Given the description of an element on the screen output the (x, y) to click on. 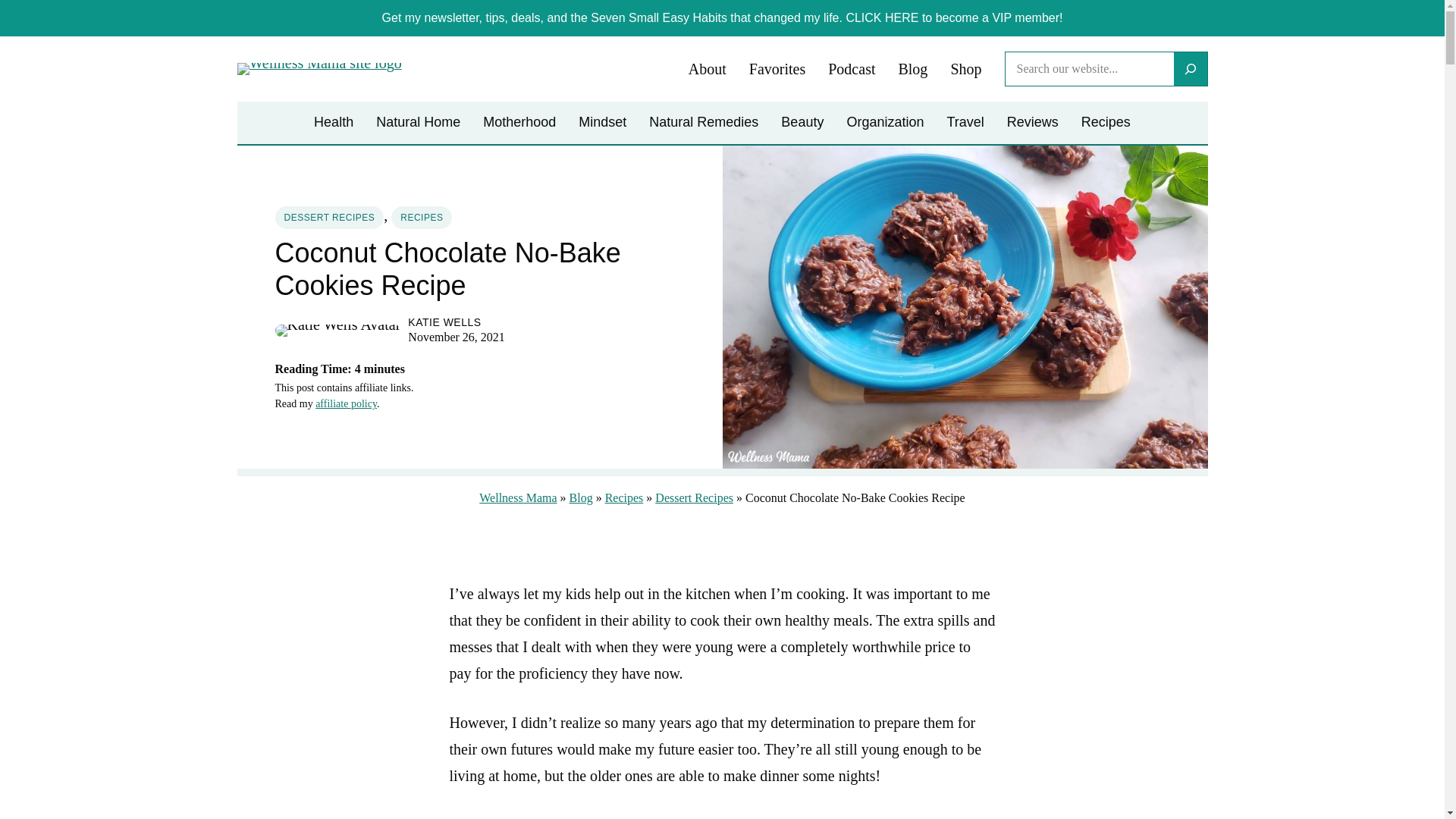
Travel (965, 122)
Shop (965, 69)
affiliate policy (346, 403)
Beauty (802, 122)
About (707, 69)
Favorites (777, 69)
Blog (912, 69)
Natural Remedies (703, 122)
Blog (580, 497)
RECIPES (421, 217)
Dessert Recipes (694, 497)
DESSERT RECIPES (329, 217)
Motherhood (519, 122)
Natural Home (417, 122)
Reviews (1032, 122)
